Given the description of an element on the screen output the (x, y) to click on. 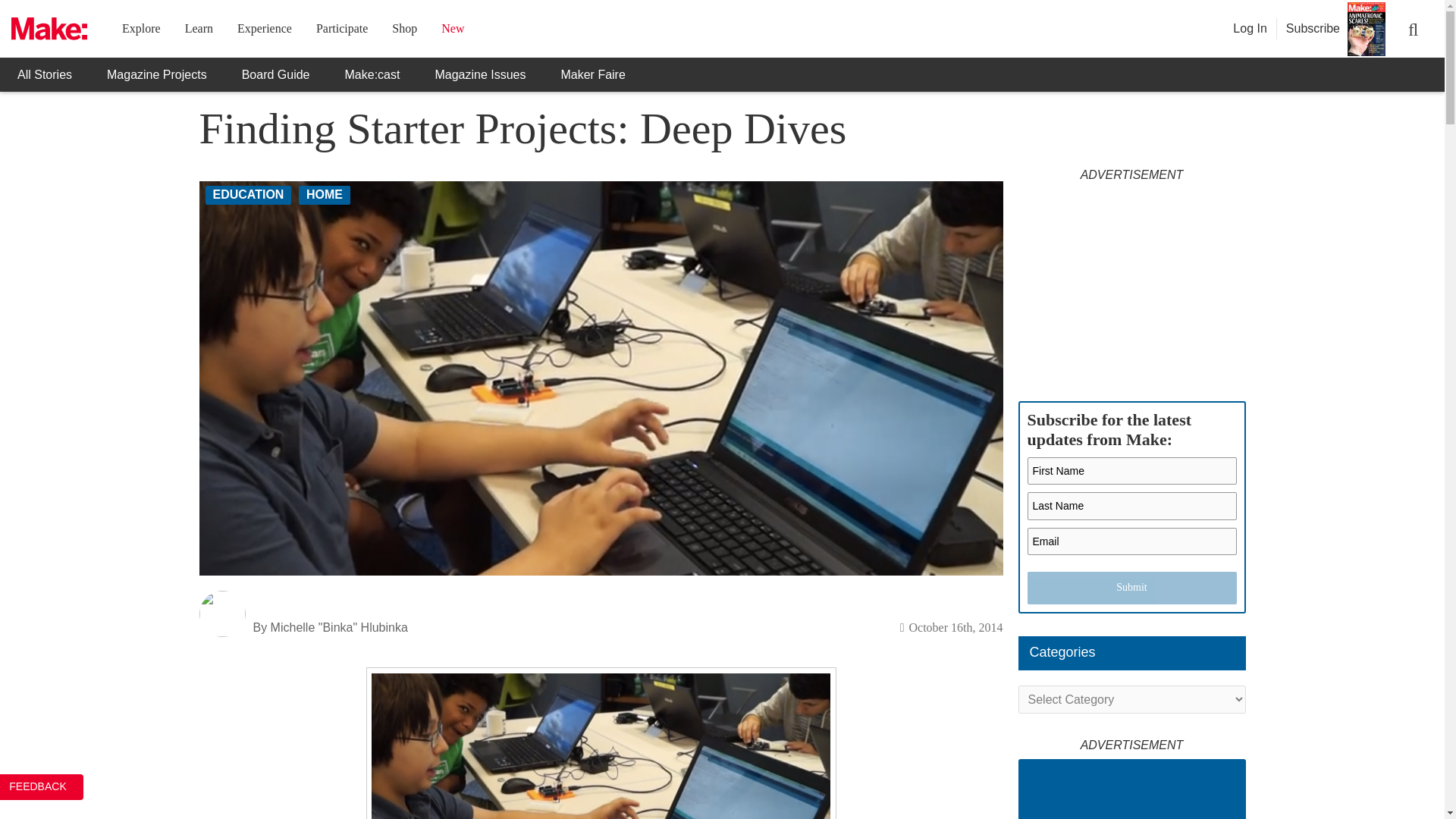
Magazine Issues (479, 74)
All Stories (44, 74)
Explore (141, 28)
Board Guide (275, 74)
Maker Faire (592, 74)
Magazine Projects (156, 74)
Log In (1249, 28)
Experience (264, 28)
Make:cast (372, 74)
3rd party ad content (1130, 283)
Participate (341, 28)
Learn (198, 28)
